Given the description of an element on the screen output the (x, y) to click on. 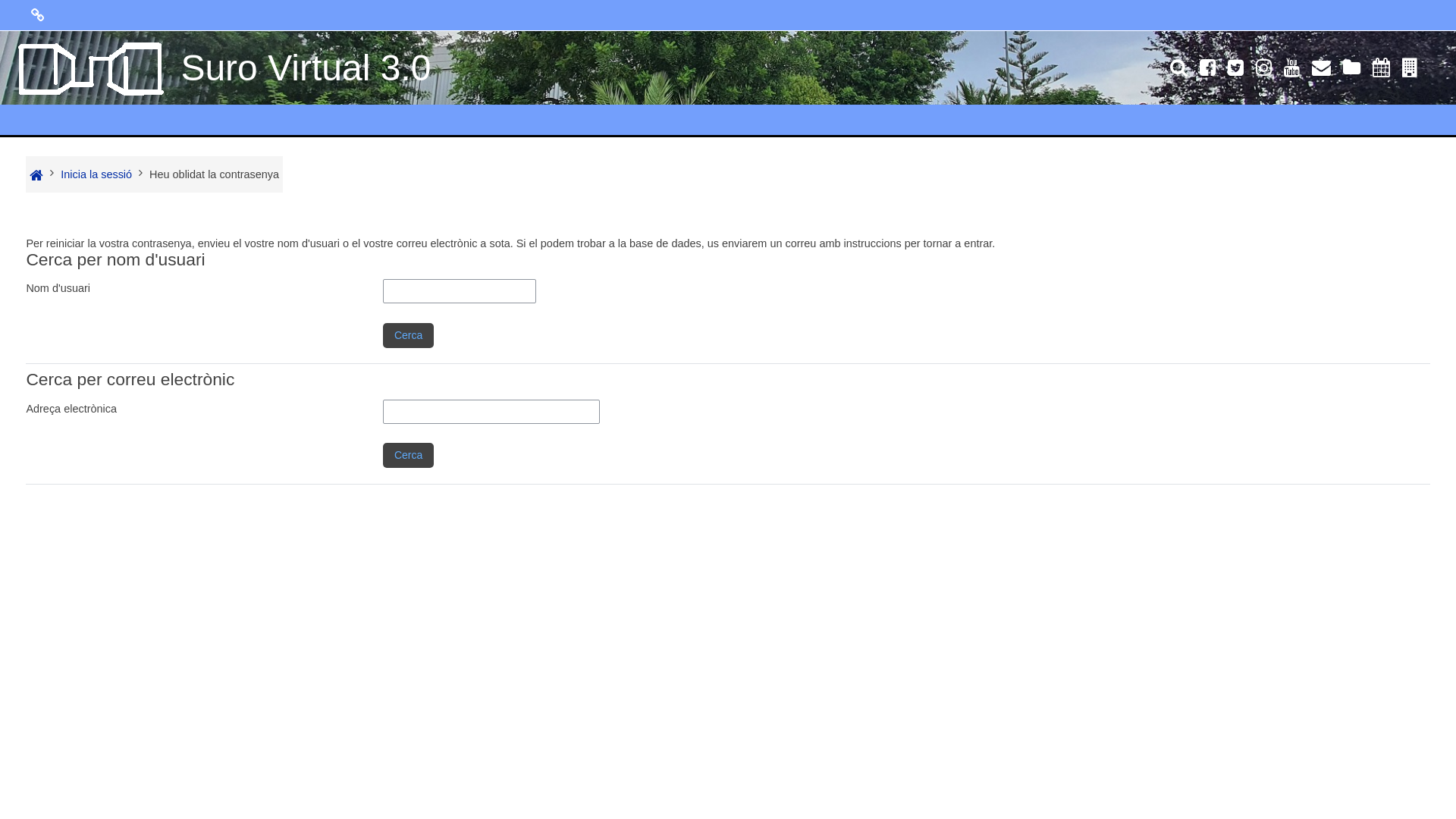
Home Element type: hover (36, 174)
Cerca Element type: text (408, 335)
Facebook del centre Element type: hover (1207, 70)
Gmail corporatiu Element type: hover (1320, 70)
Canal de YouTube del centre Element type: hover (1291, 70)
Twitter del centre Element type: hover (1235, 70)
Calendari corporatiu Element type: hover (1381, 70)
Web del centre a Nodes Element type: hover (1413, 70)
Cerca Element type: text (408, 454)
Instagram de centre Element type: hover (1263, 70)
Drive corporatiu Element type: hover (1351, 70)
Cerca al Suro Element type: hover (1175, 70)
